Given the description of an element on the screen output the (x, y) to click on. 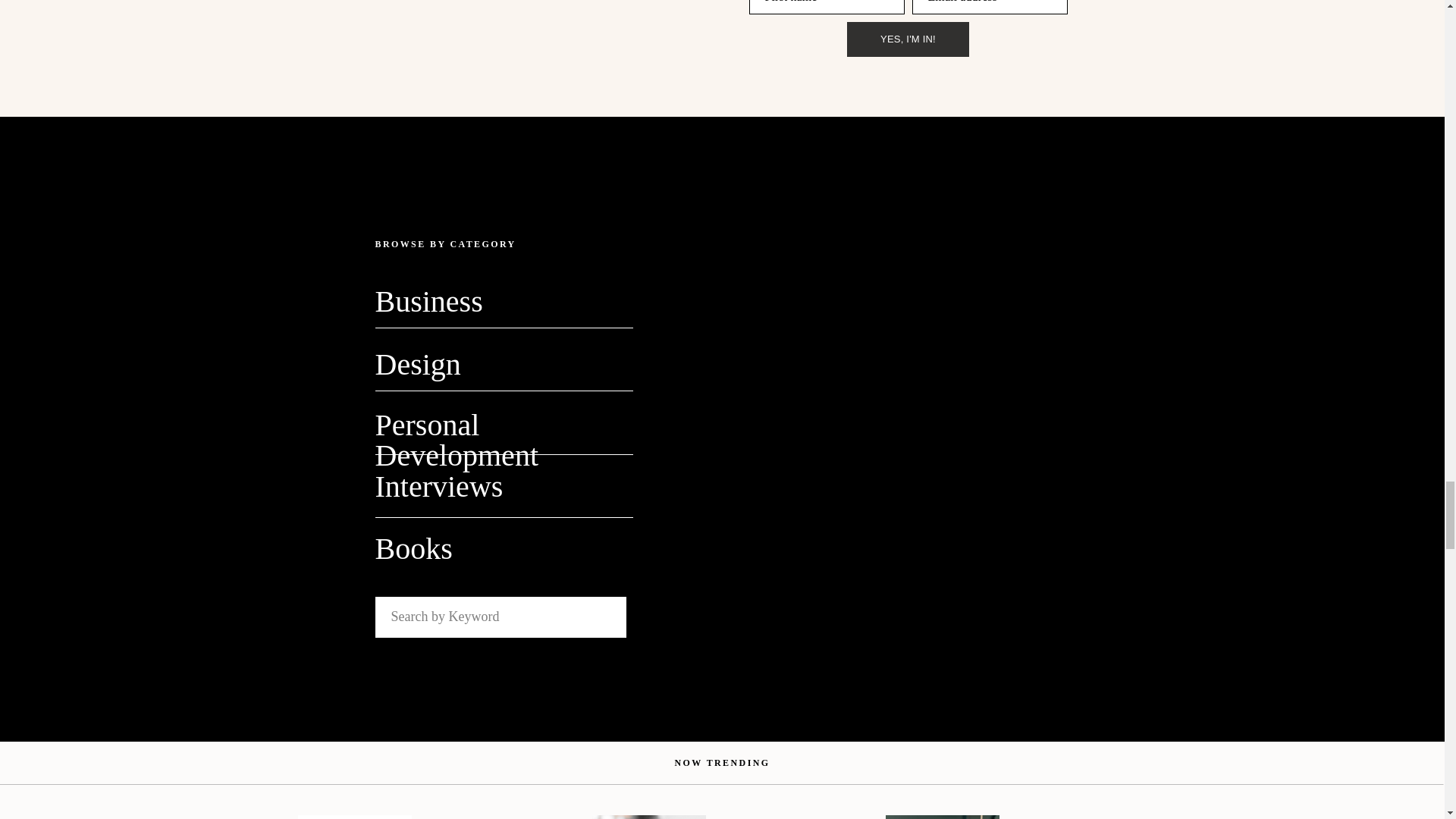
How to start an email newsletter in 2023 (647, 816)
Content Ideas for the Holiday Season (941, 816)
Is Tonic Site Shop Worth It? (353, 816)
